Given the description of an element on the screen output the (x, y) to click on. 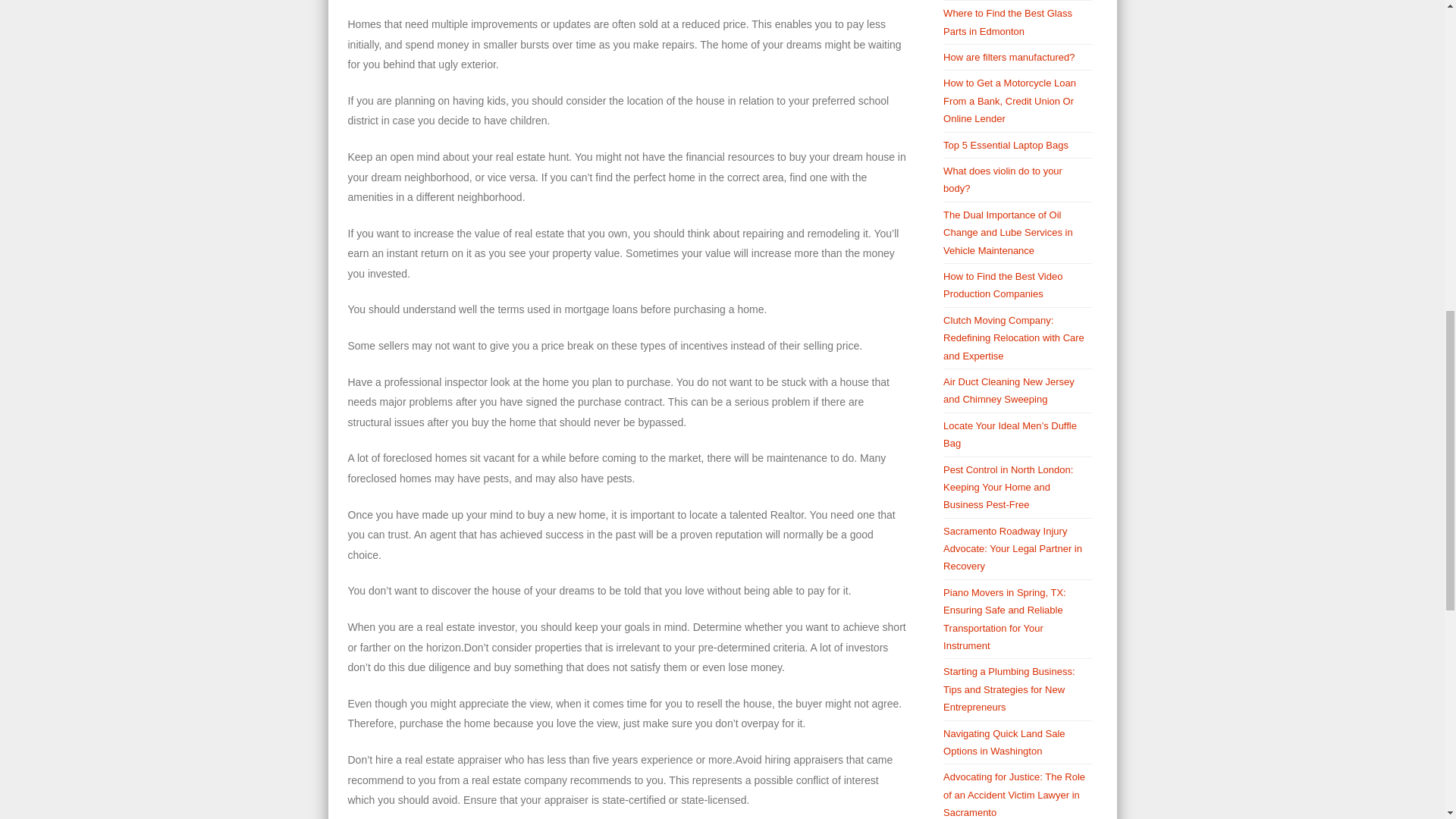
What does violin do to your body? (1002, 179)
Navigating Quick Land Sale Options in Washington (1003, 742)
How are filters manufactured? (1008, 57)
Where to Find the Best Glass Parts in Edmonton (1007, 21)
